Given the description of an element on the screen output the (x, y) to click on. 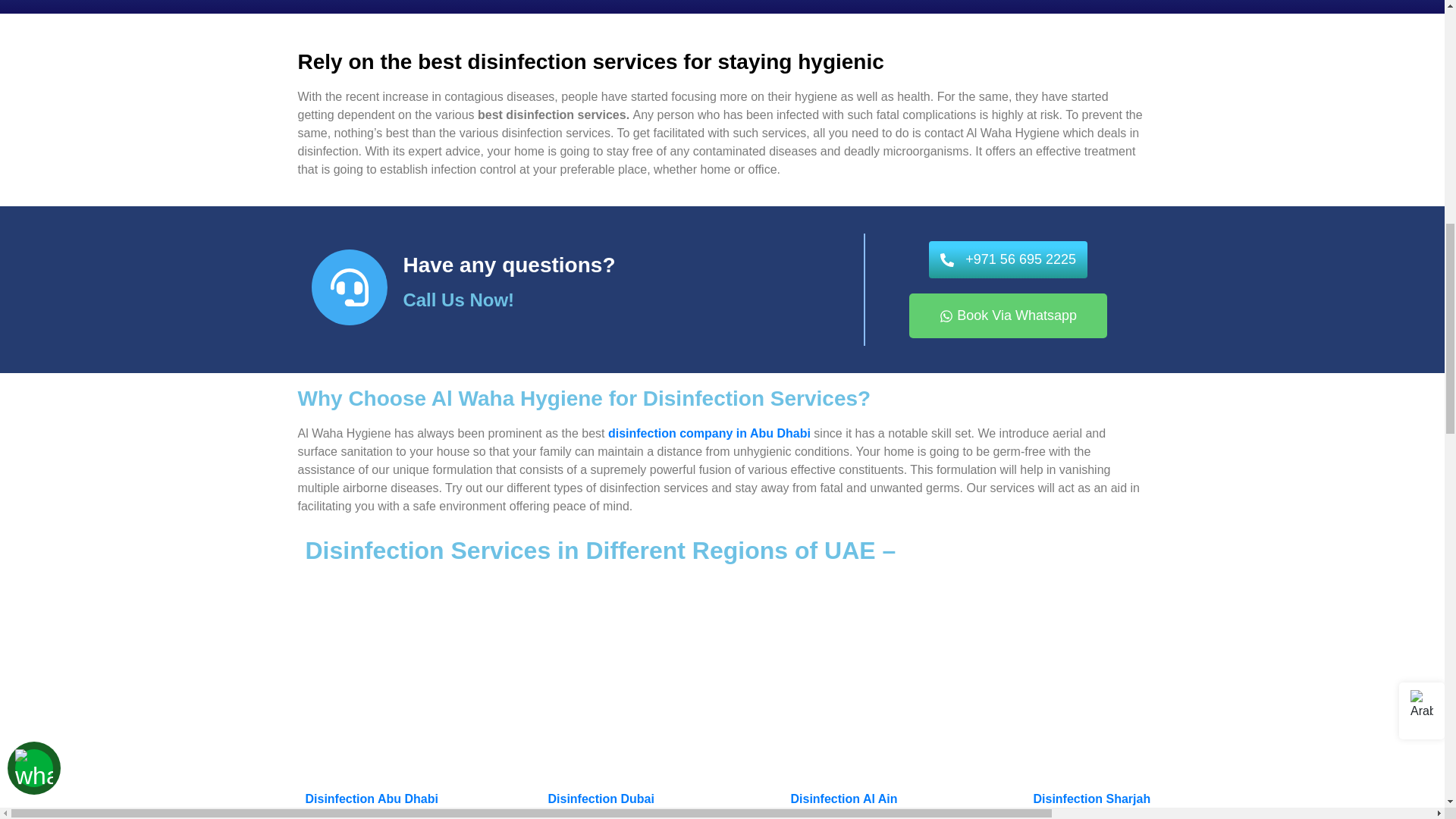
Disinfection Service in Abu Dhabi (418, 676)
disinfection services abu dhabi dubai (1146, 676)
Disinfection Services Al Ain (903, 676)
Disinfection Service in Abu Dhabi (660, 676)
